Given the description of an element on the screen output the (x, y) to click on. 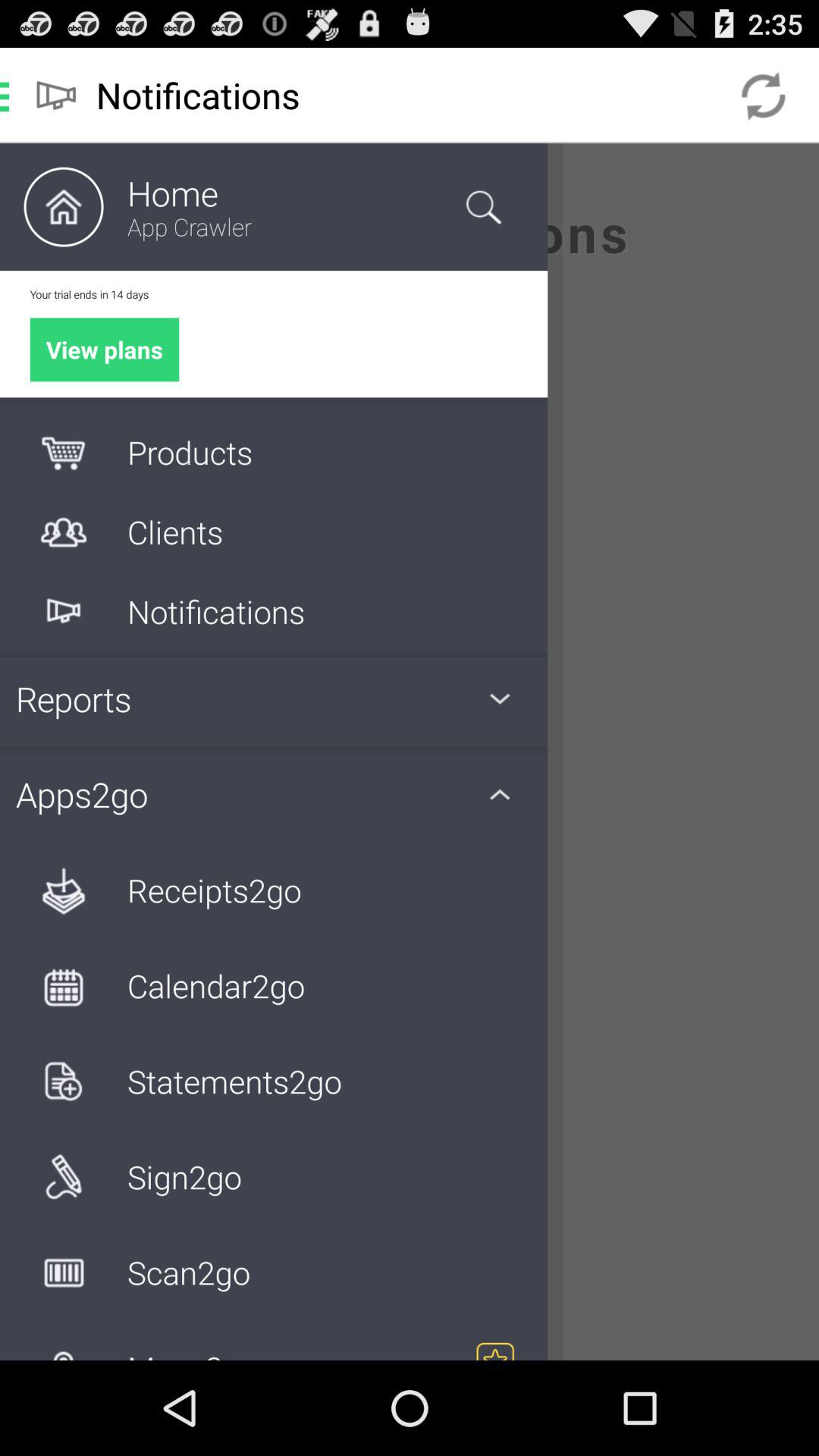
click on the search icon (483, 206)
select the icon below the clients (63, 611)
click on icon left to statement2go (63, 1081)
